Given the description of an element on the screen output the (x, y) to click on. 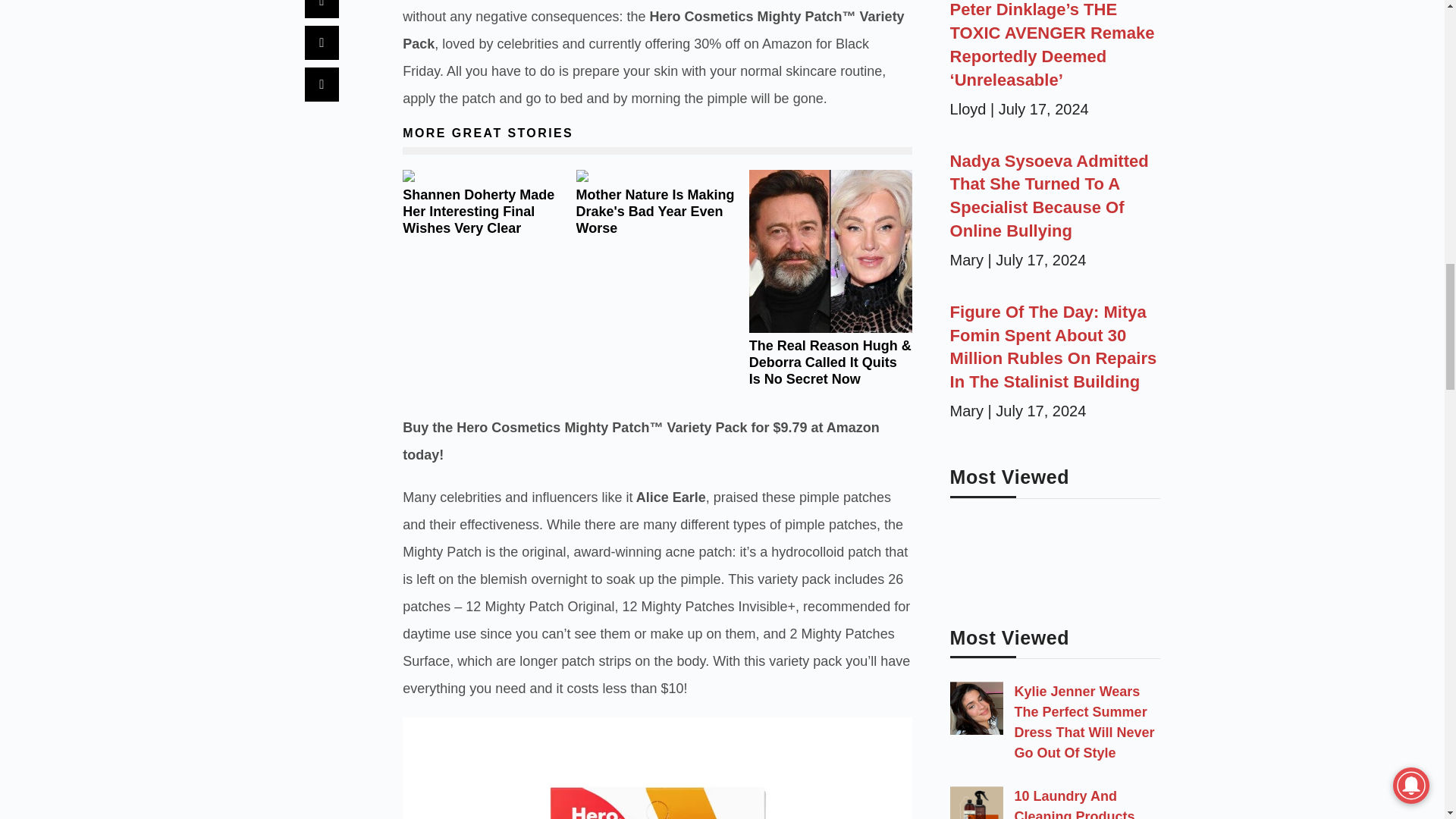
Mother Nature Is Making Drake's Bad Year Even Worse (655, 211)
Shannen Doherty Made Her Interesting Final Wishes Very Clear (478, 211)
